Given the description of an element on the screen output the (x, y) to click on. 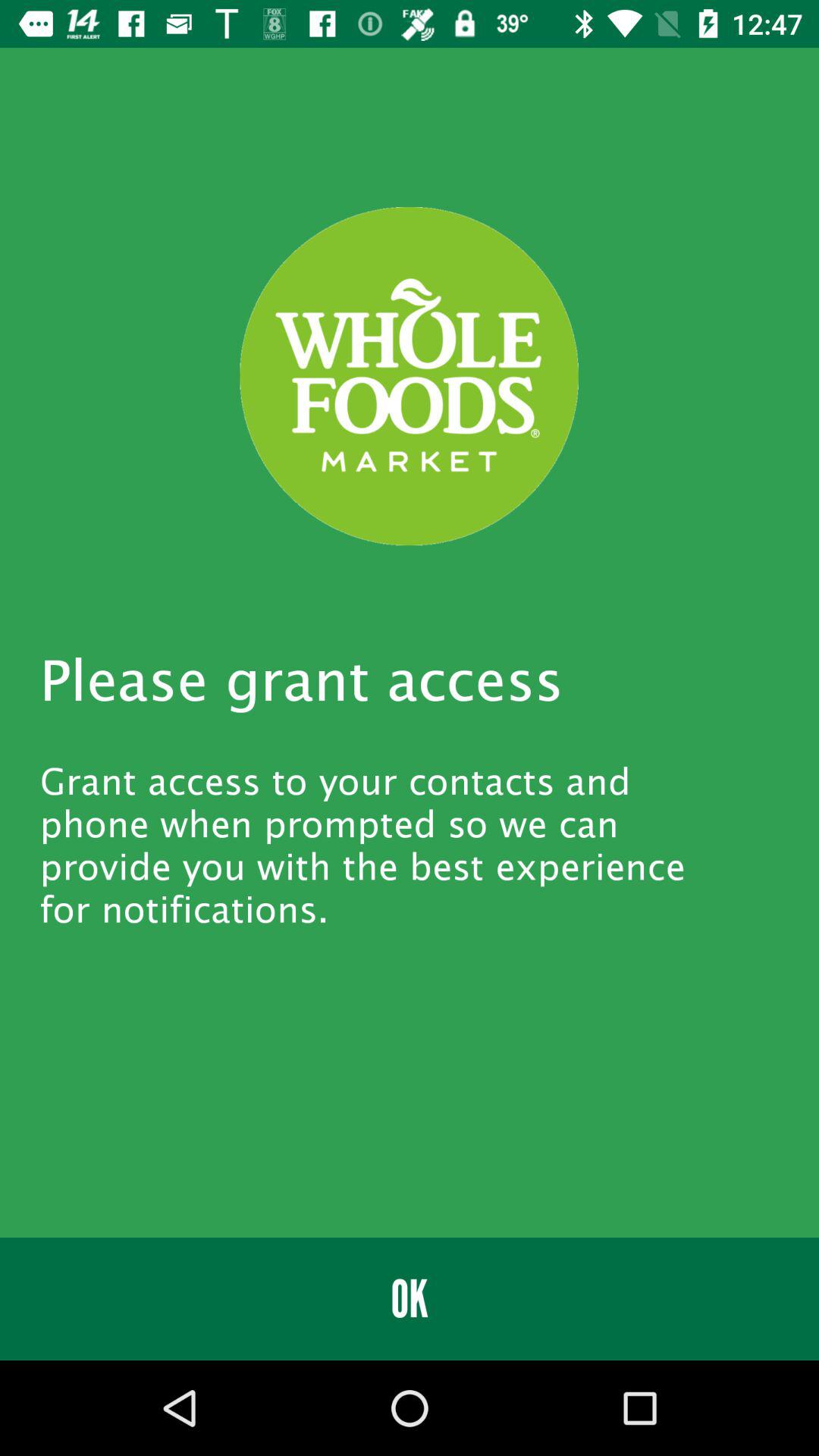
press the ok icon (409, 1298)
